Given the description of an element on the screen output the (x, y) to click on. 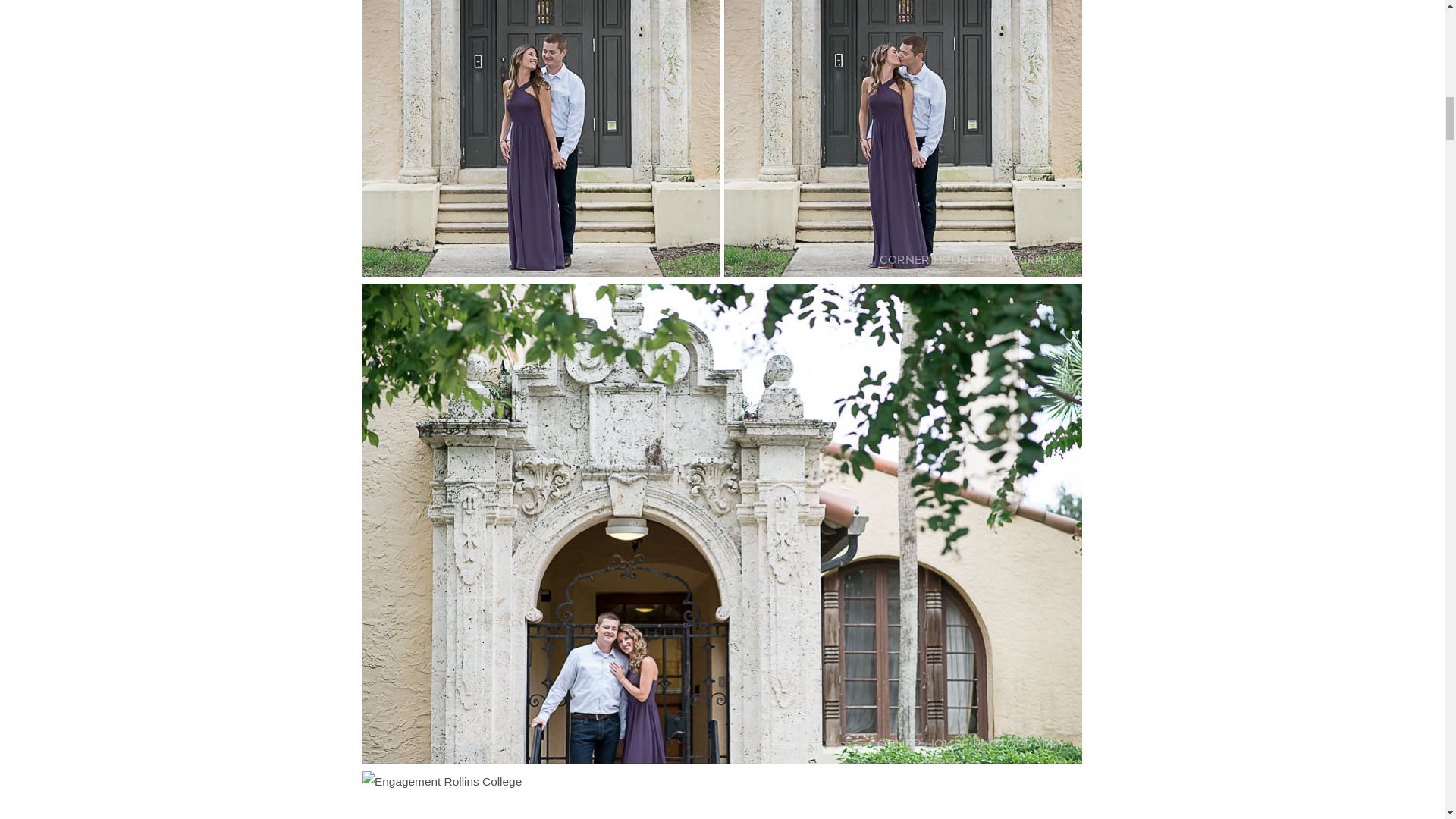
Engagement Rollins College (721, 795)
